Given the description of an element on the screen output the (x, y) to click on. 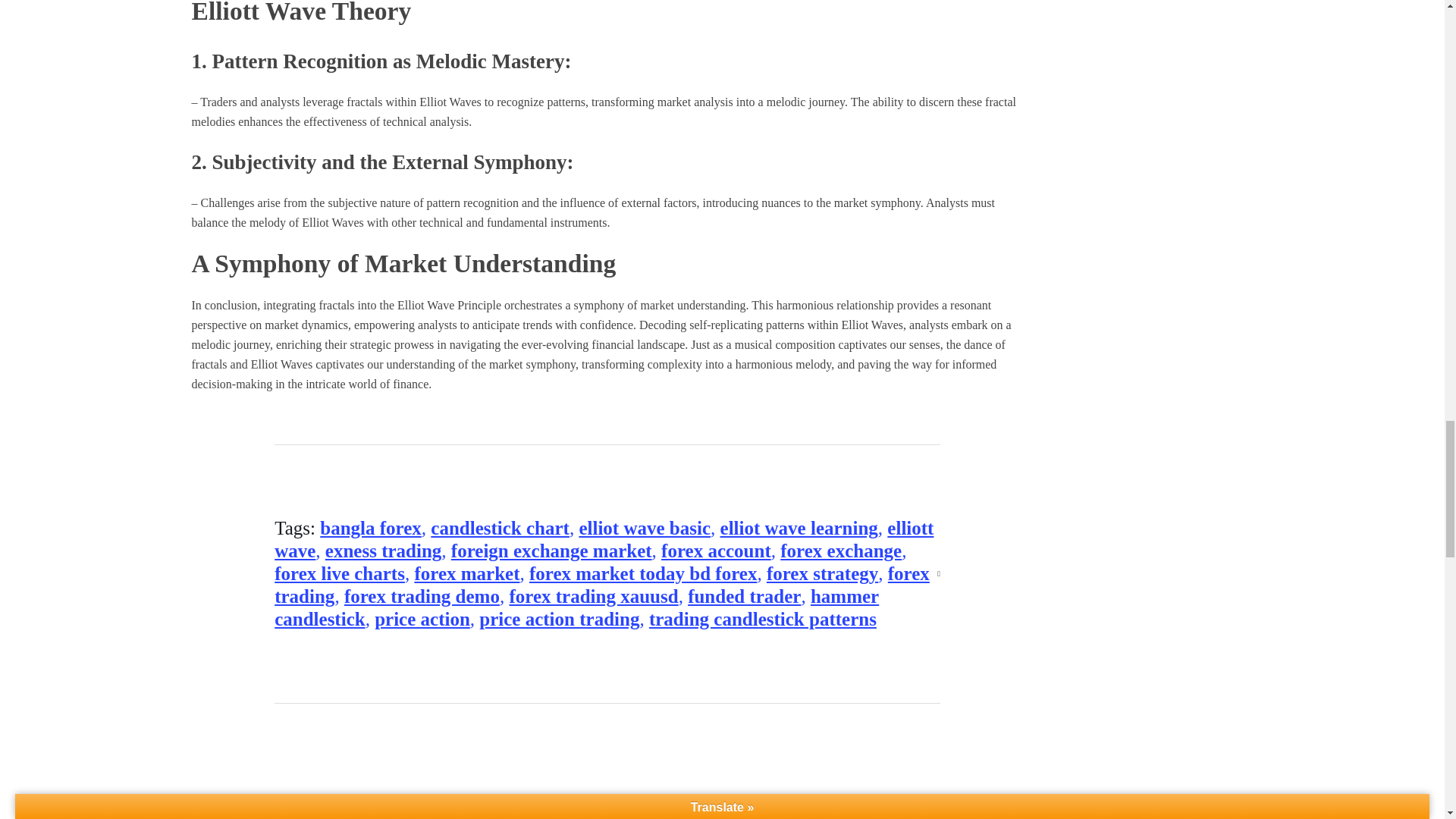
candlestick chart (499, 527)
bangla forex (371, 527)
elliot wave basic (644, 527)
